Given the description of an element on the screen output the (x, y) to click on. 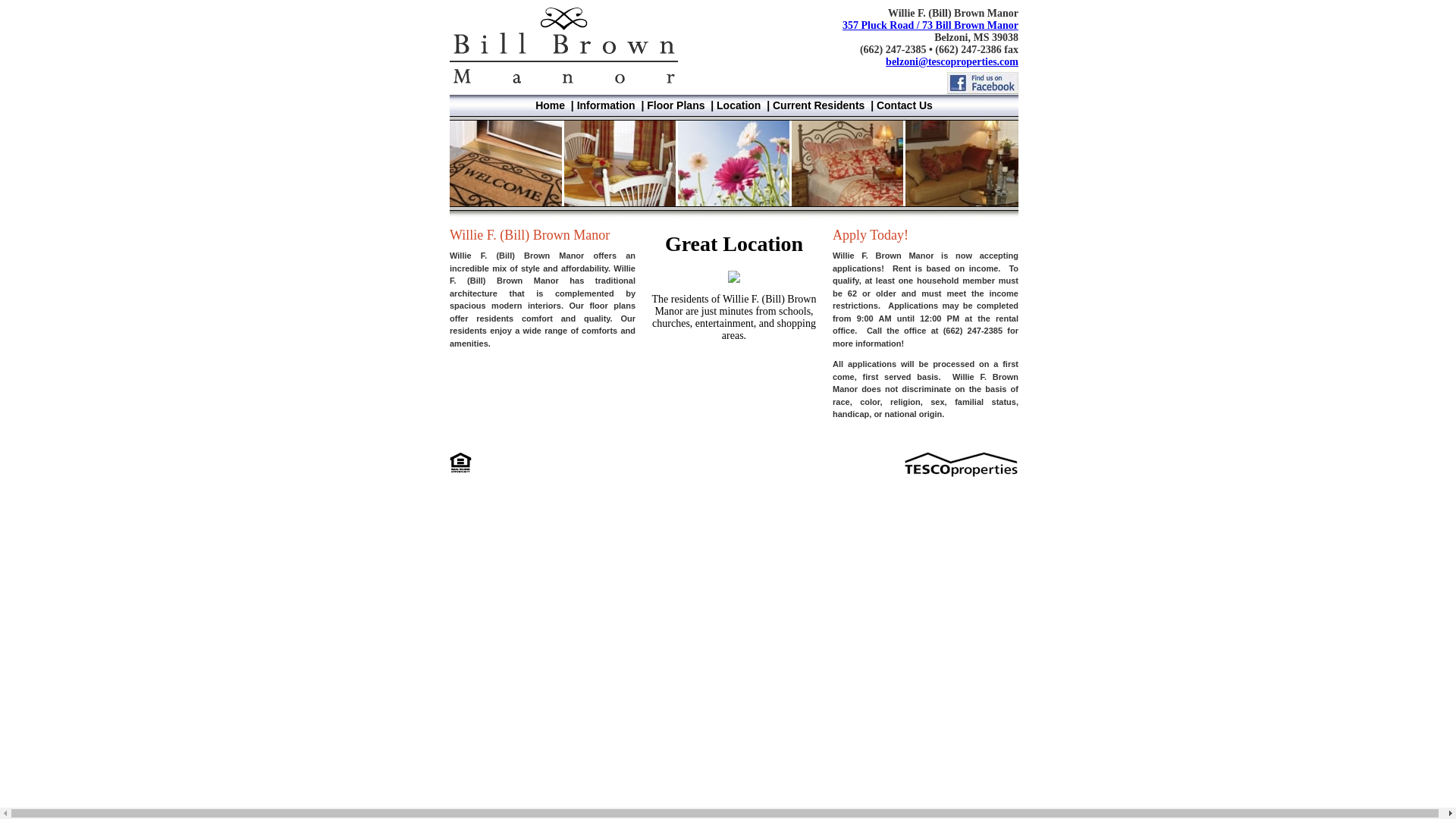
Contact Us (904, 105)
Current Residents (818, 105)
Home (549, 105)
Information (605, 105)
Location (738, 105)
Floor Plans (675, 105)
